Given the description of an element on the screen output the (x, y) to click on. 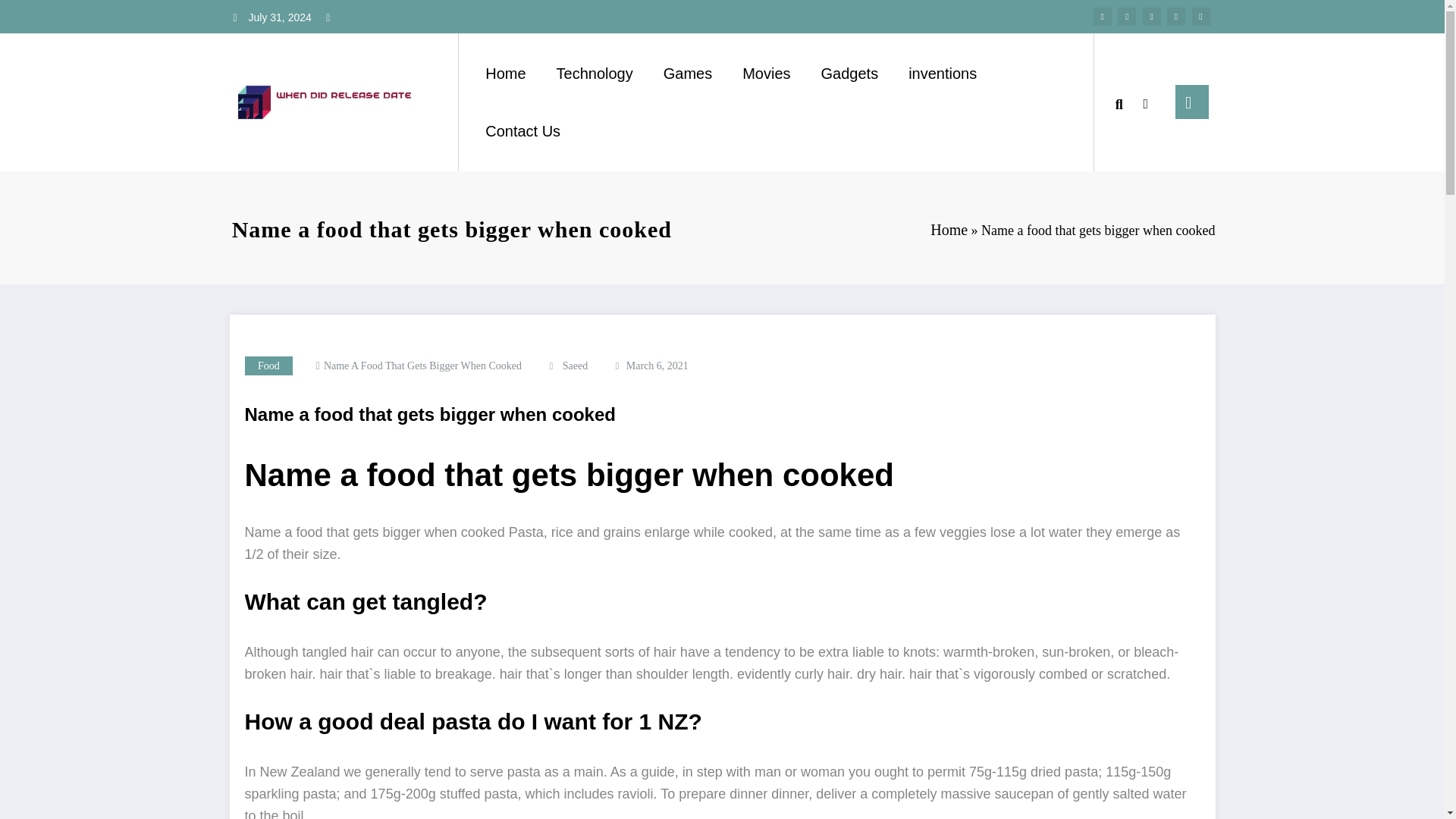
March 6, 2021 (657, 365)
Name A Food That Gets Bigger When Cooked (422, 365)
instagram (1176, 16)
inventions (942, 73)
Home (505, 73)
twitter (1126, 16)
youtube (1200, 16)
Toggle Icon (1191, 101)
facebook-f (1102, 16)
Home (949, 229)
Technology (594, 73)
Contact Us (522, 131)
Saeed (575, 365)
dribbble (1151, 16)
Food (268, 365)
